Given the description of an element on the screen output the (x, y) to click on. 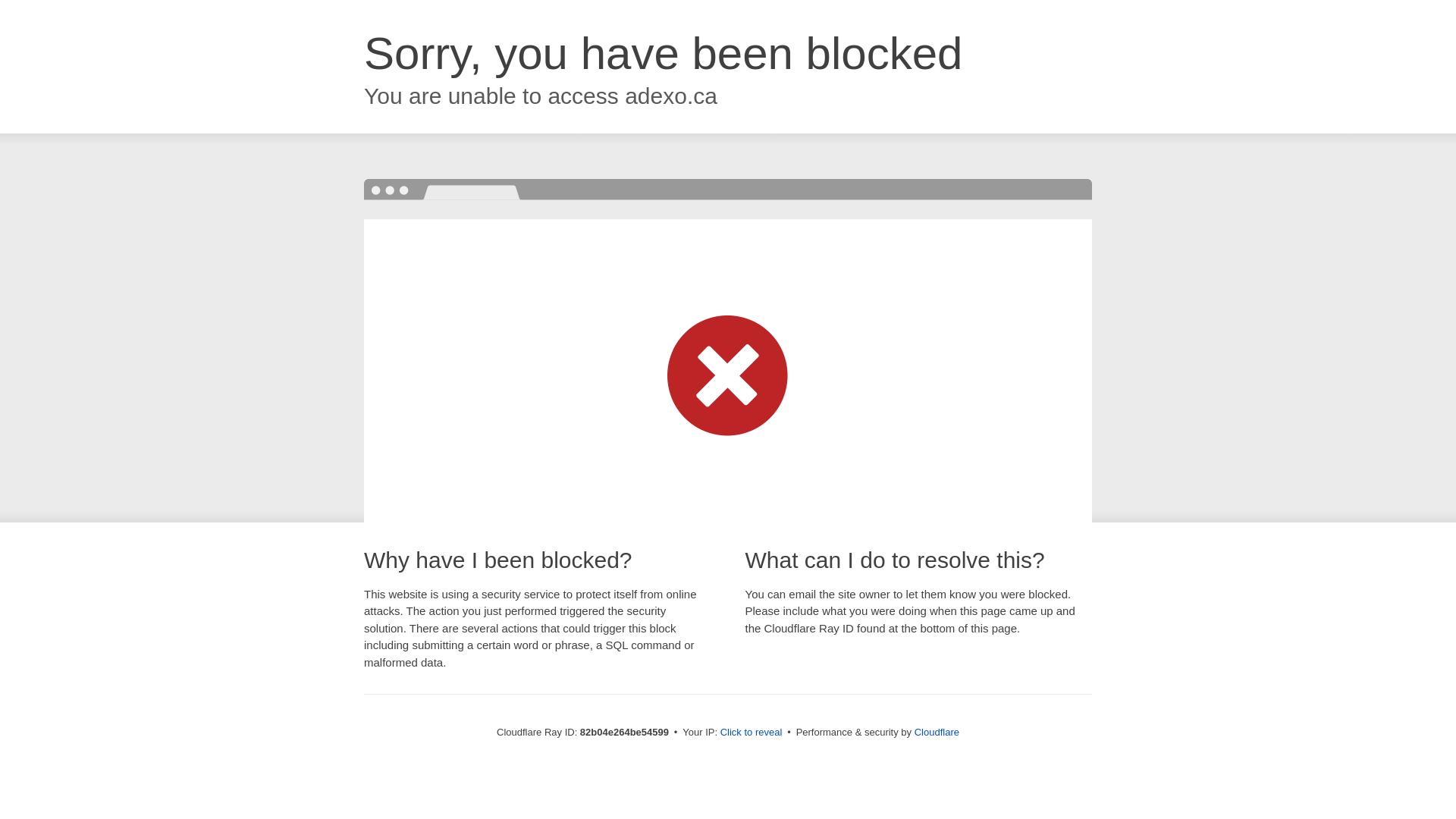
Click to reveal Element type: text (751, 732)
Cloudflare Element type: text (936, 731)
